Given the description of an element on the screen output the (x, y) to click on. 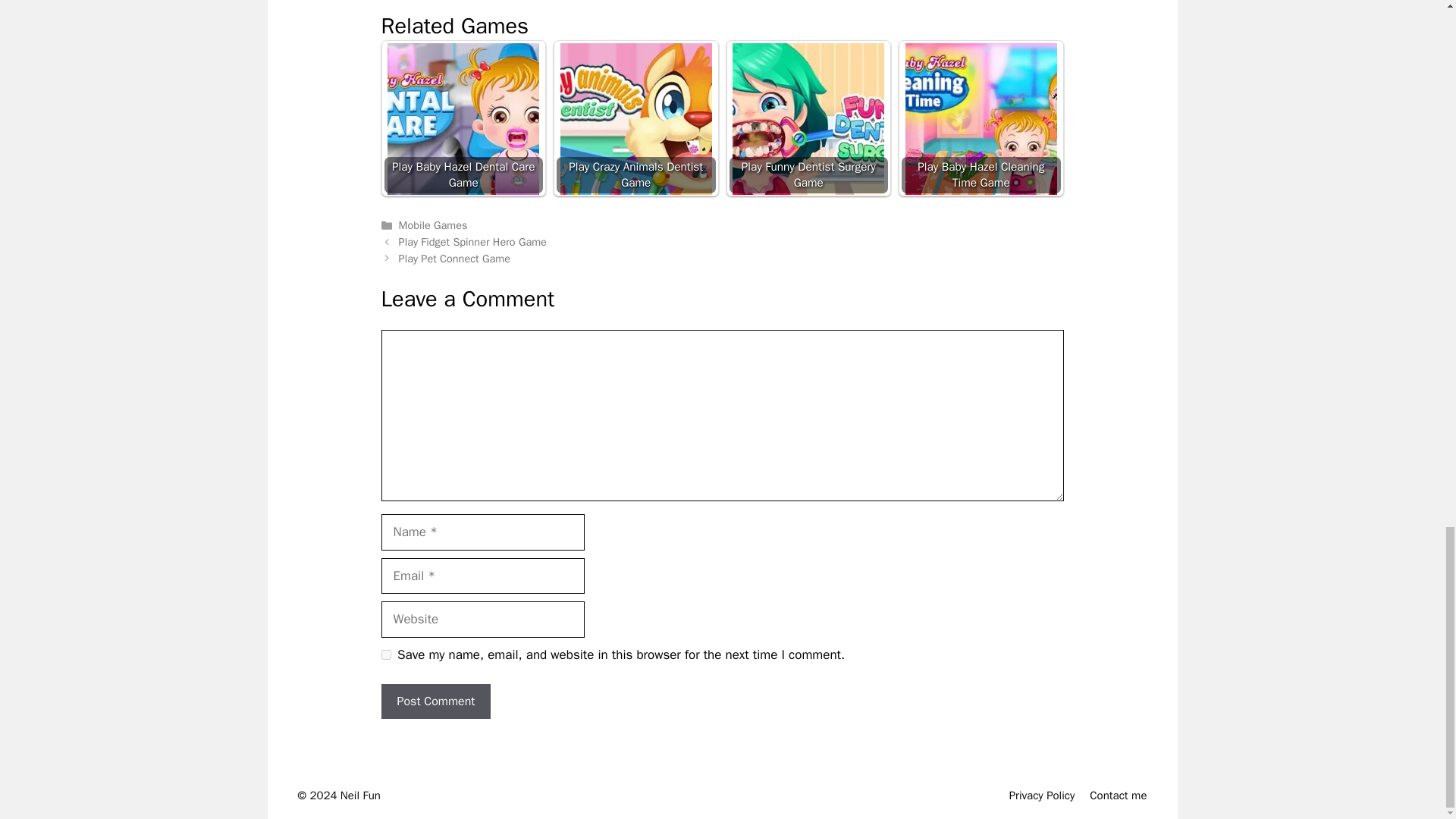
Facebook (395, 0)
Email (456, 0)
Reddit (486, 0)
Play Baby Hazel Dental Care Game (462, 118)
Share (577, 0)
Post Comment (435, 701)
yes (385, 655)
Contact me (1118, 795)
Facebook (395, 0)
WhatsApp (517, 0)
Copy Link (547, 0)
Play Baby Hazel Cleaning Time Game (980, 117)
Play Fidget Spinner Hero Game (472, 241)
Play Crazy Animals Dentist Game (635, 118)
Play Baby Hazel Cleaning Time Game (981, 118)
